Given the description of an element on the screen output the (x, y) to click on. 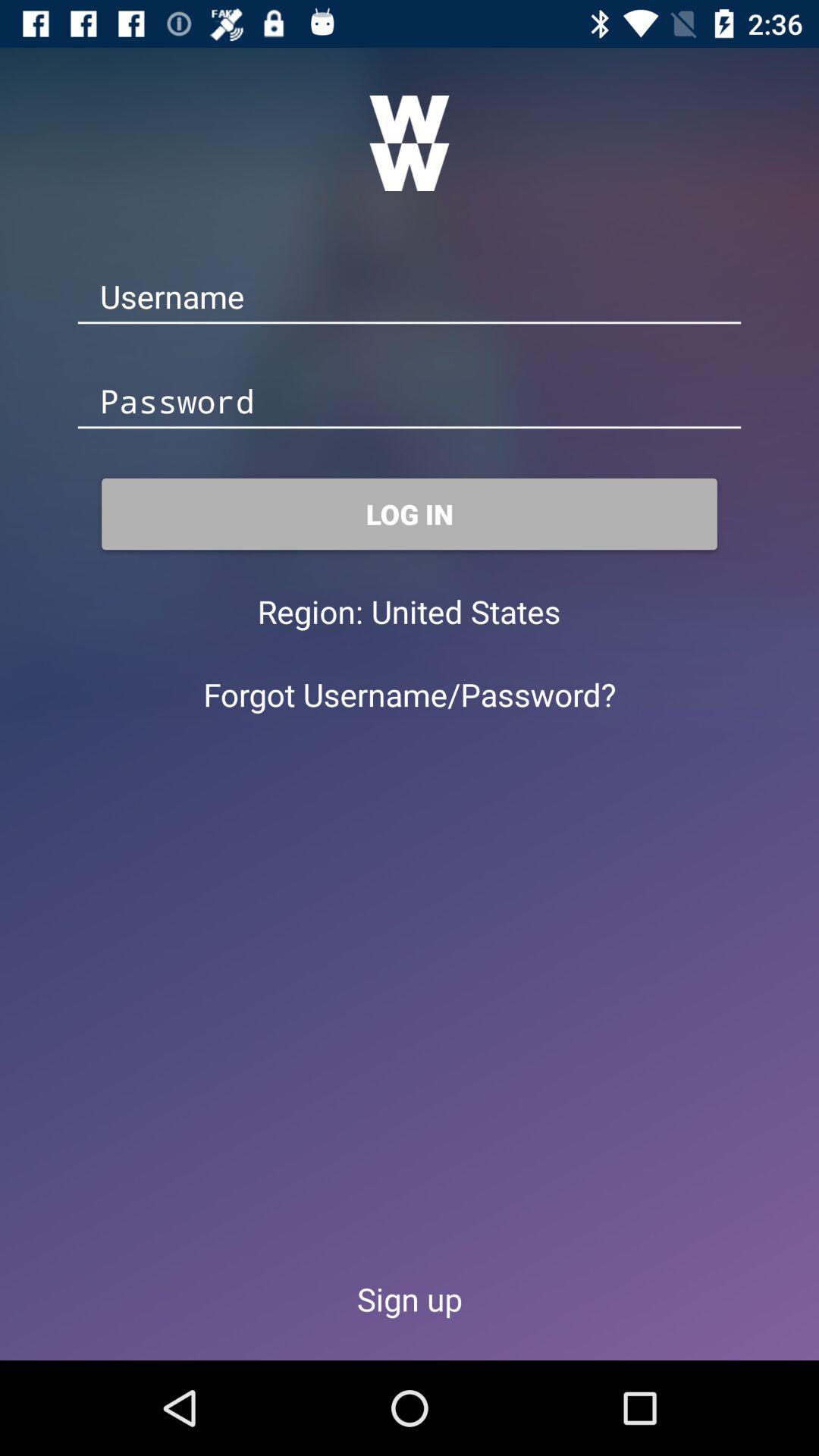
tap forgot username/password? (409, 694)
